Given the description of an element on the screen output the (x, y) to click on. 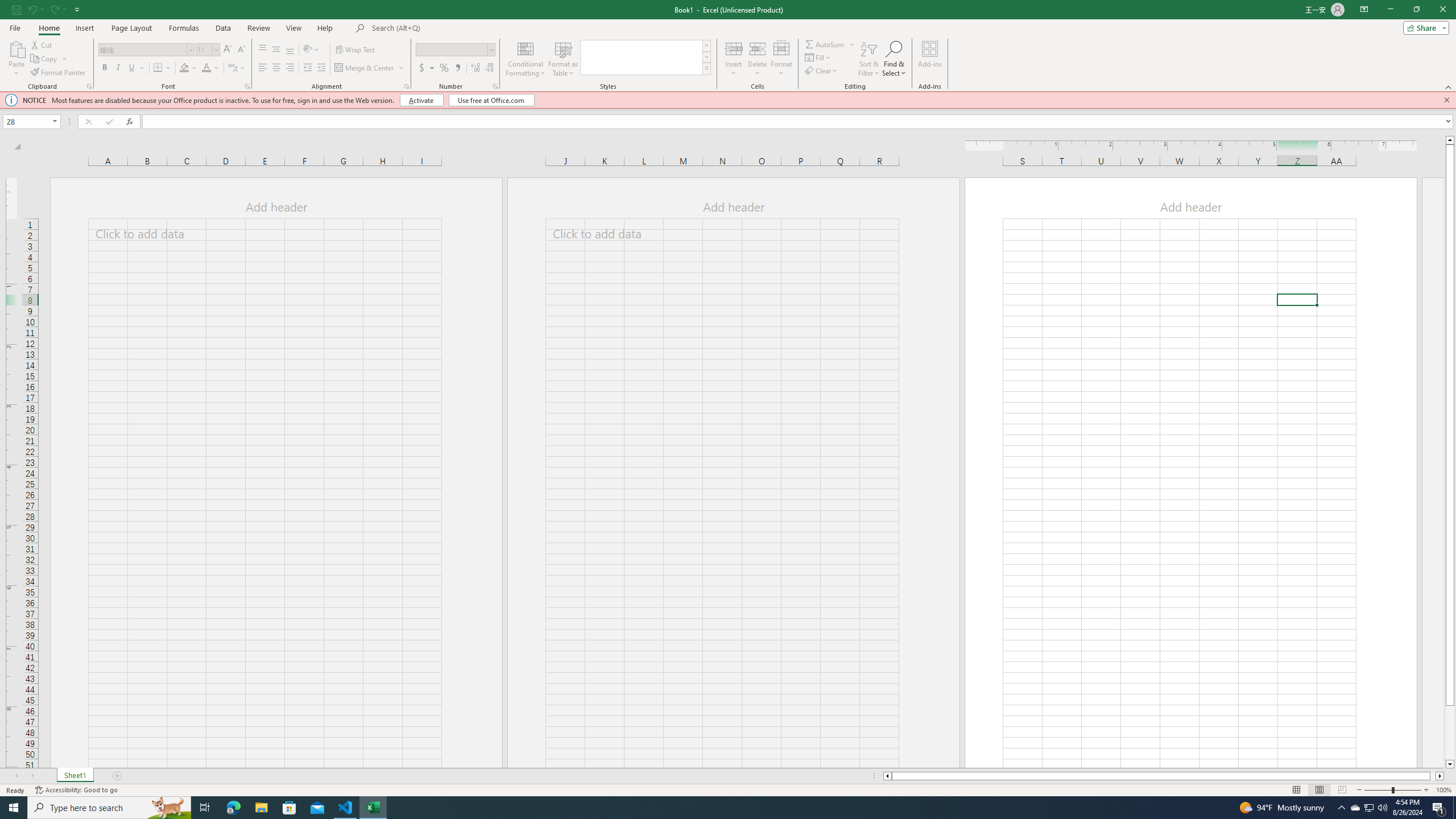
Copy (45, 58)
Sum (825, 44)
Fill Color (183, 67)
Increase Indent (320, 67)
Number Format (451, 49)
Increase Font Size (227, 49)
